Given the description of an element on the screen output the (x, y) to click on. 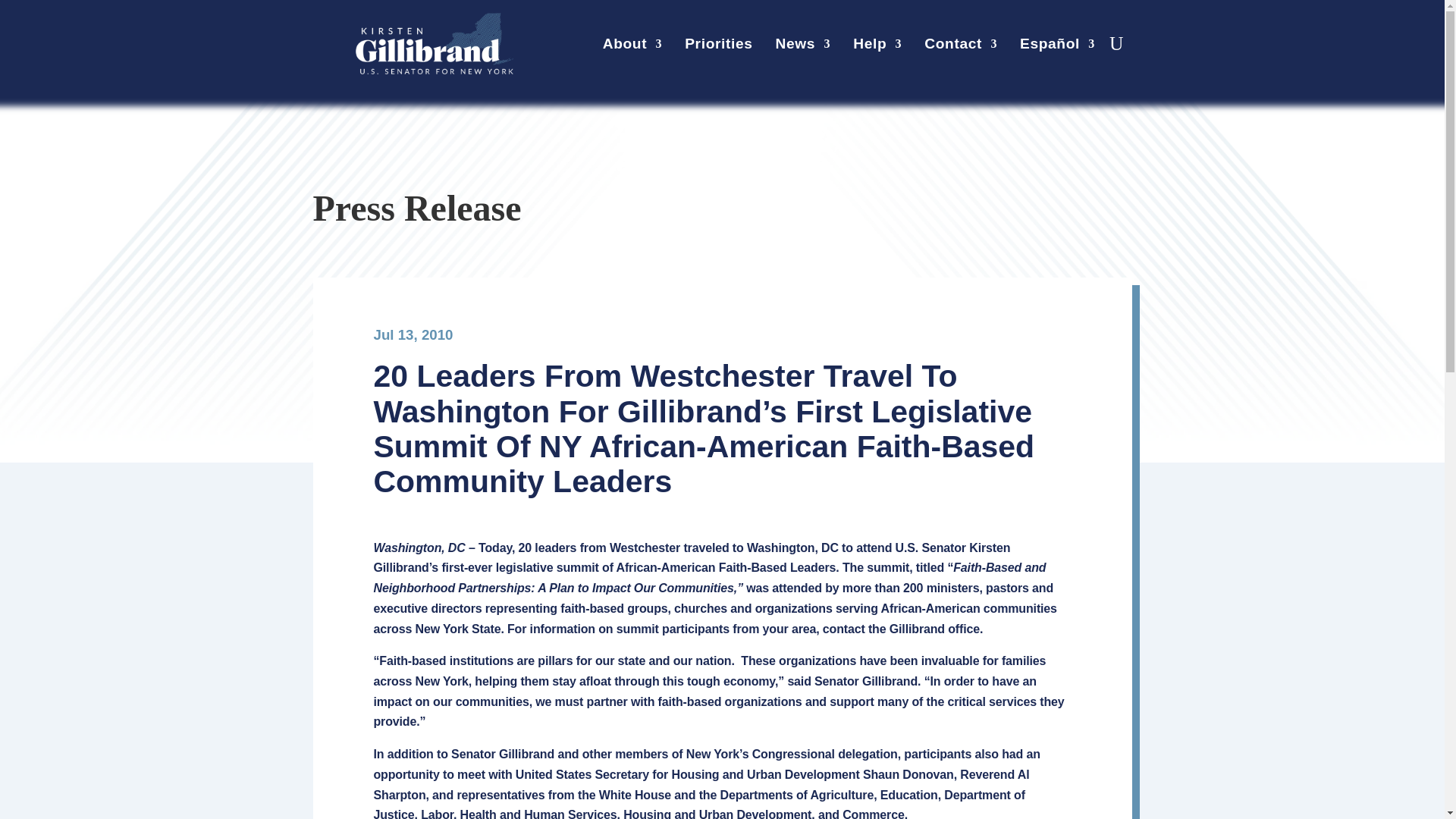
Contact (960, 46)
About (632, 46)
gillibrand-logo (434, 43)
News (803, 46)
Priorities (718, 46)
Help (877, 46)
